Given the description of an element on the screen output the (x, y) to click on. 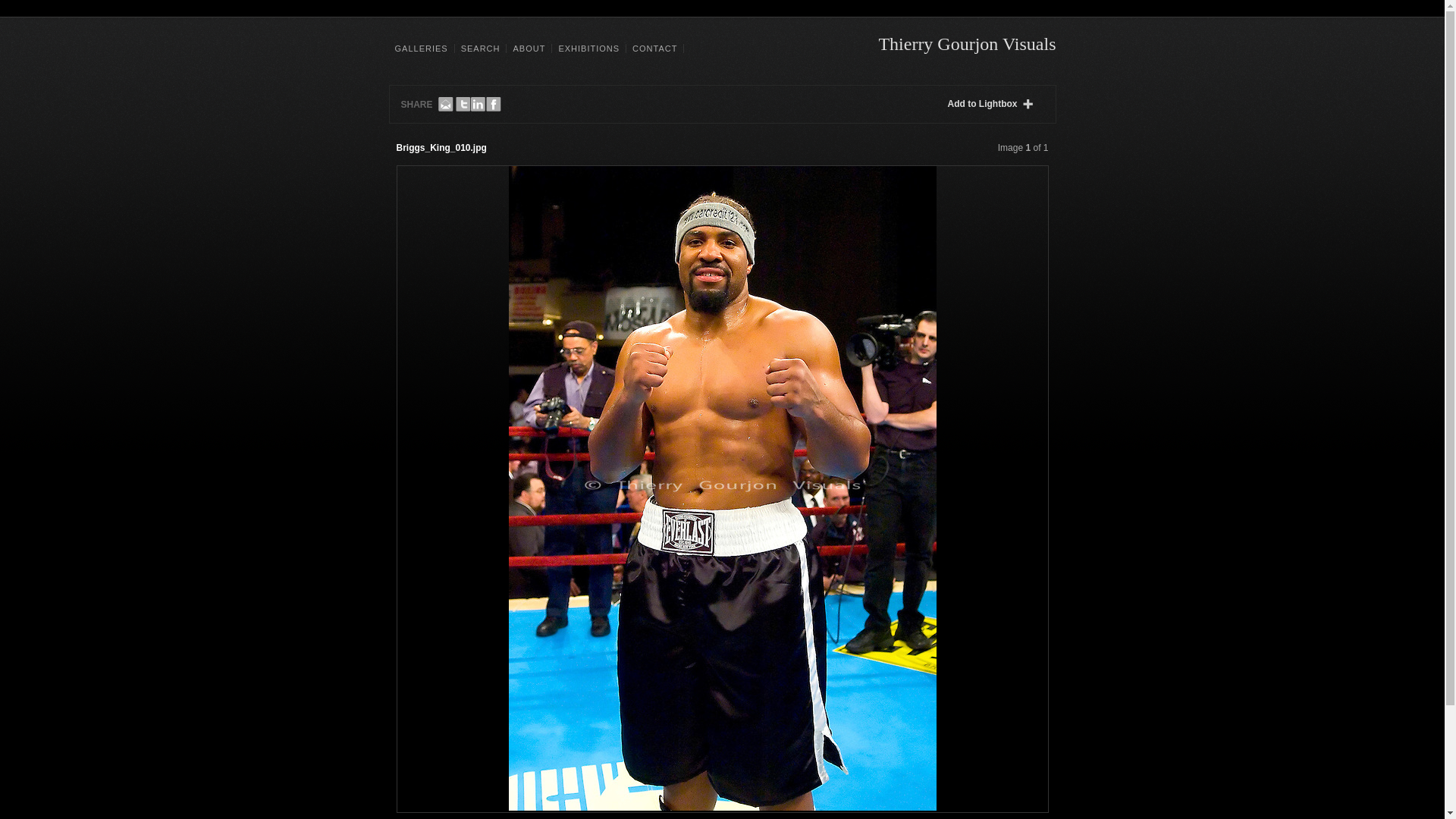
Thierry Gourjon Visuals (966, 44)
EXHIBITIONS (588, 48)
GALLERIES (421, 48)
SEARCH (480, 48)
ABOUT (528, 48)
CONTACT (654, 48)
Add to Lightbox (994, 104)
Email to a Friend (445, 105)
